Given the description of an element on the screen output the (x, y) to click on. 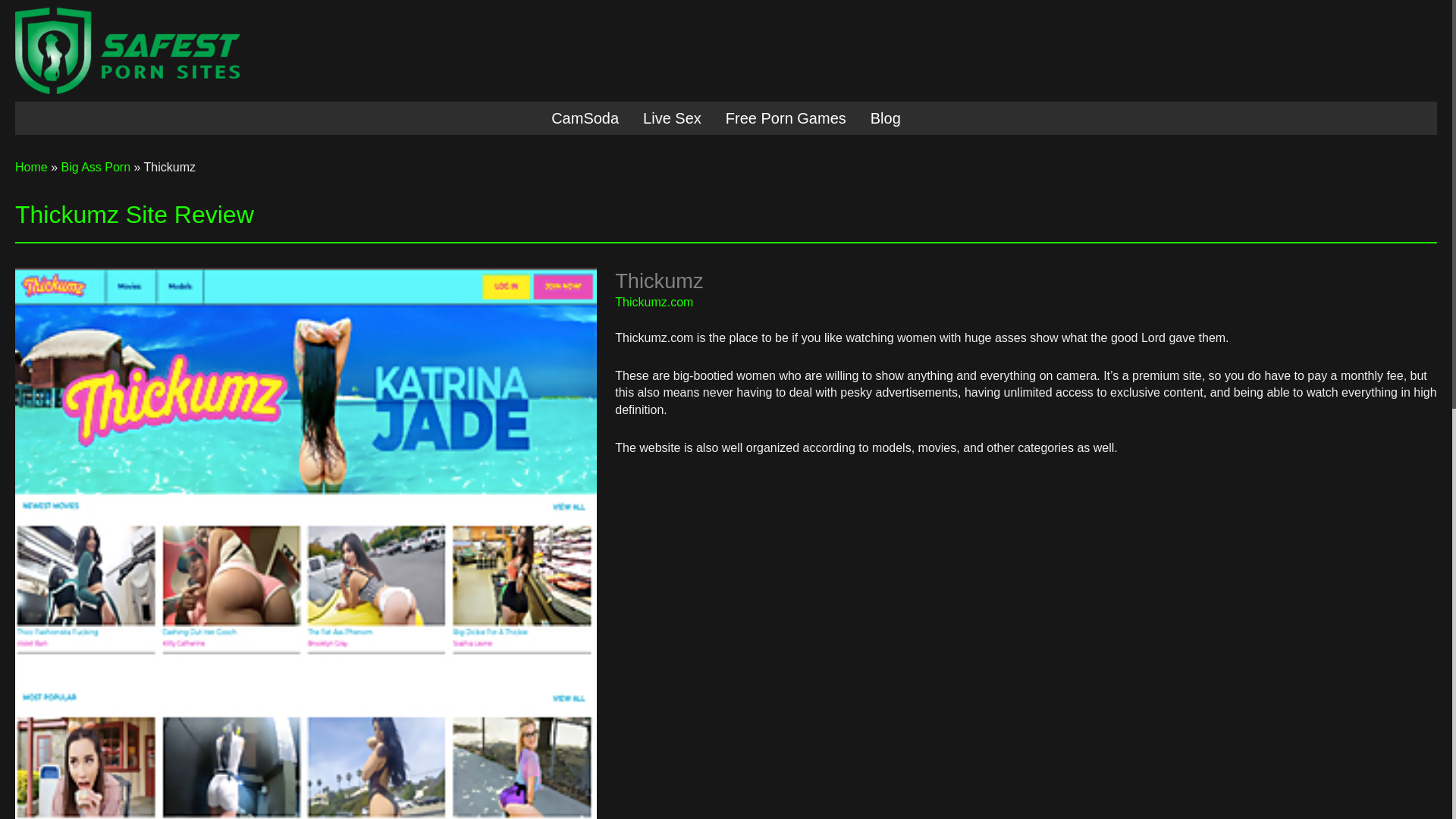
Home (31, 166)
CamSoda (584, 118)
Big Ass Porn (96, 166)
Free Porn Games (786, 118)
Thickumz.com (653, 301)
Blog (885, 118)
Live Sex (671, 118)
